Given the description of an element on the screen output the (x, y) to click on. 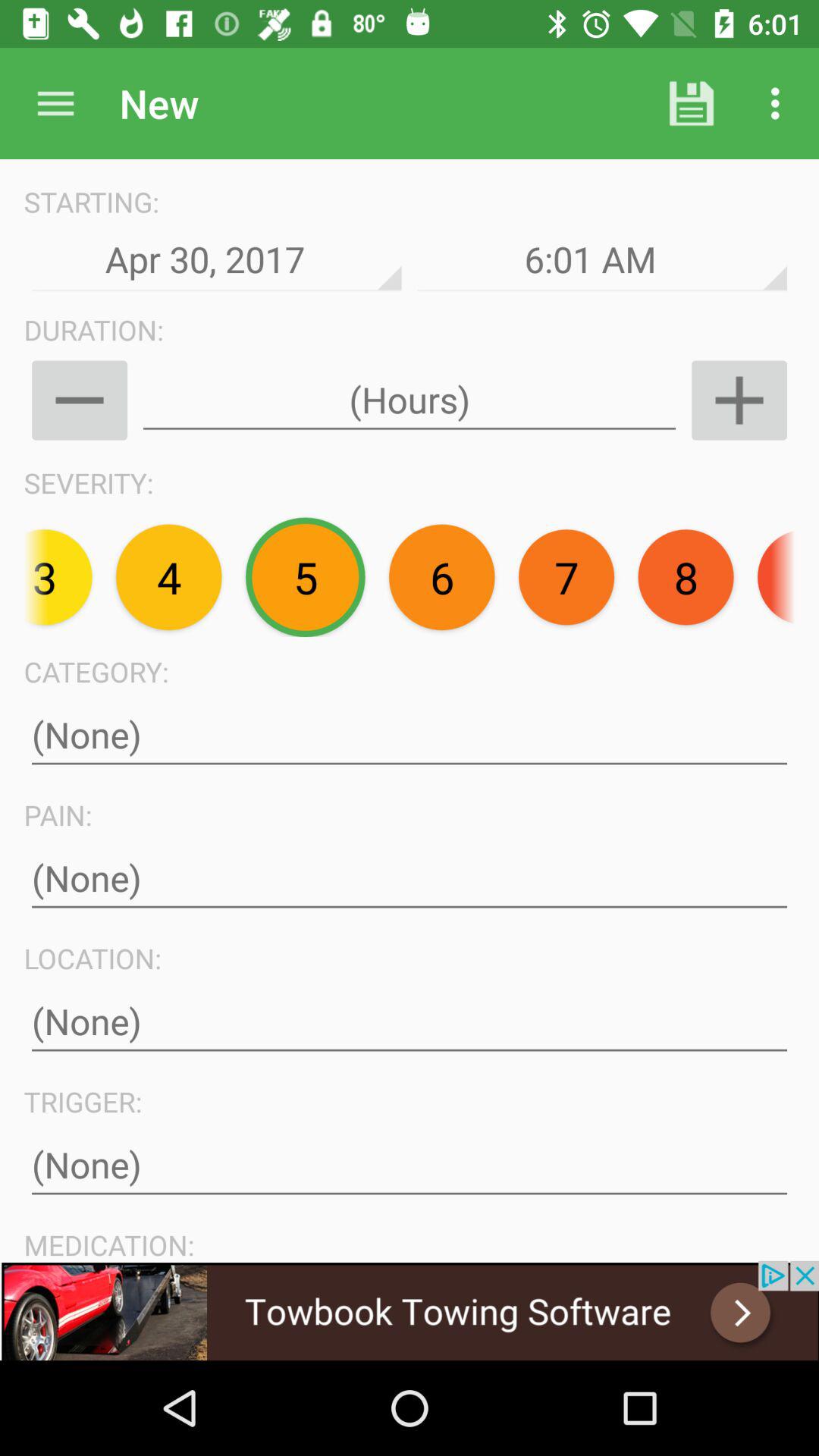
open menu (55, 103)
